Given the description of an element on the screen output the (x, y) to click on. 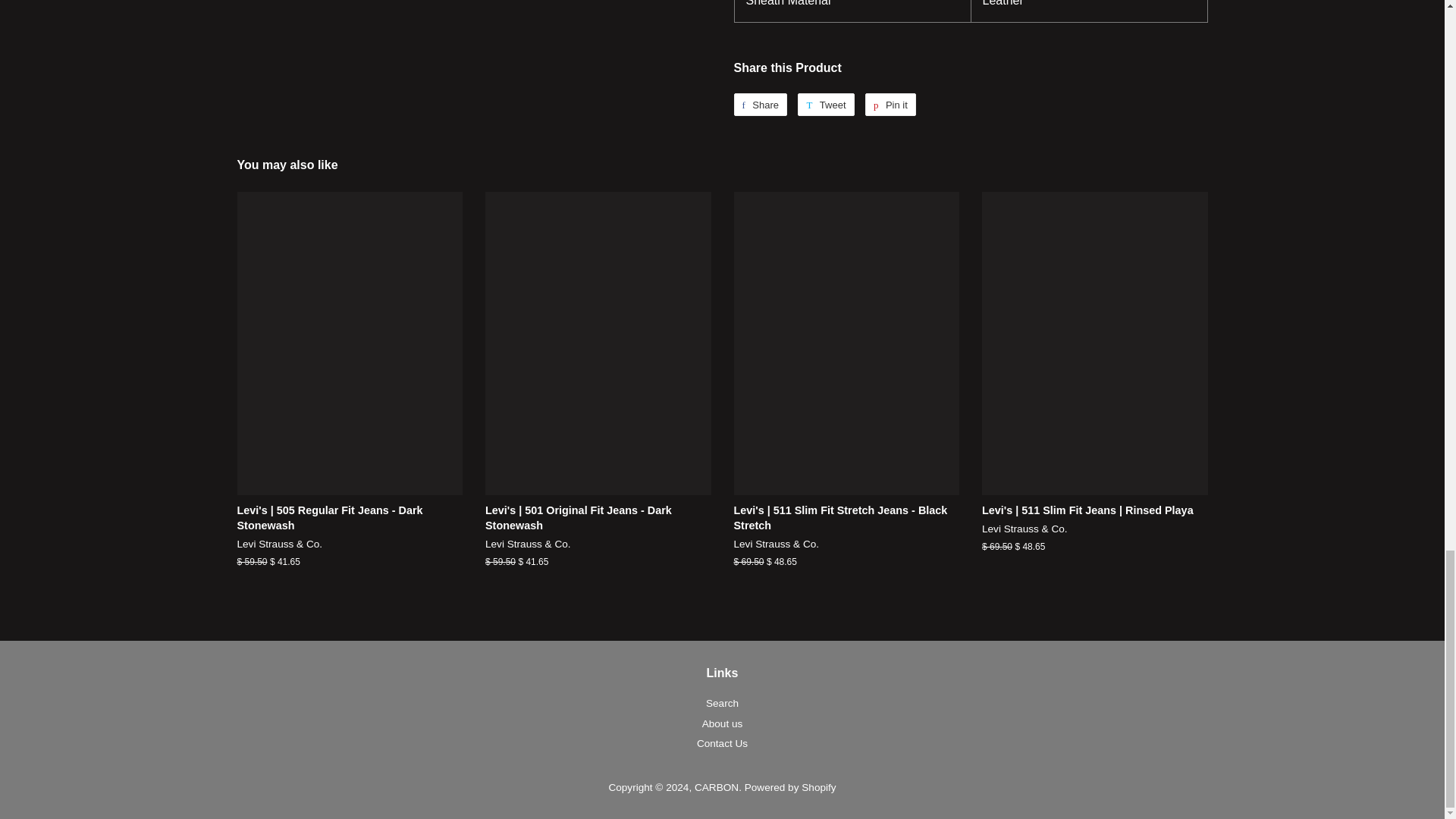
Pin on Pinterest (889, 104)
Share on Facebook (760, 104)
Tweet on Twitter (825, 104)
